Given the description of an element on the screen output the (x, y) to click on. 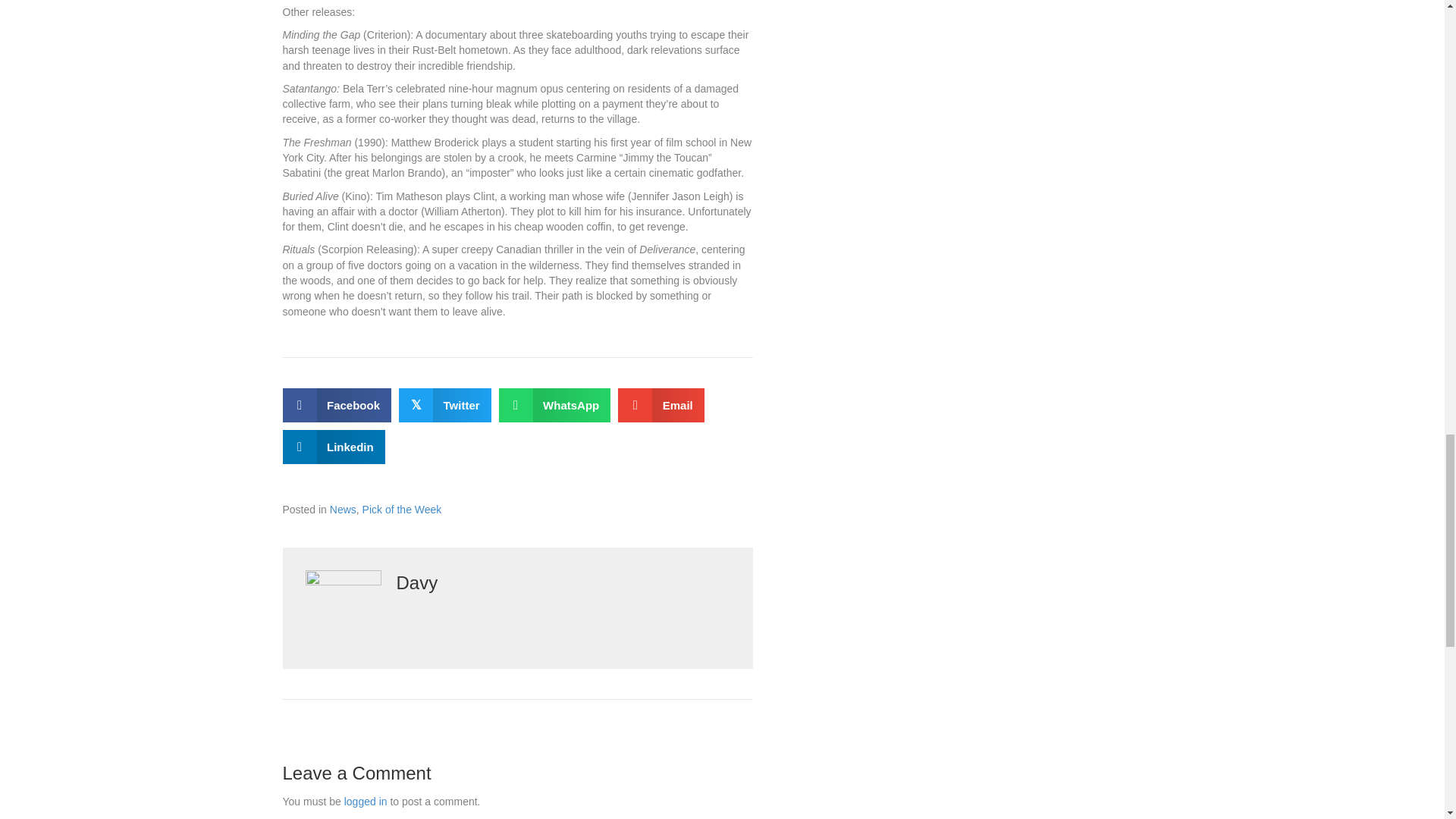
WhatsApp (555, 405)
News (343, 509)
Linkedin (333, 446)
Email (660, 405)
logged in (365, 801)
Pick of the Week (402, 509)
Facebook (336, 405)
